Given the description of an element on the screen output the (x, y) to click on. 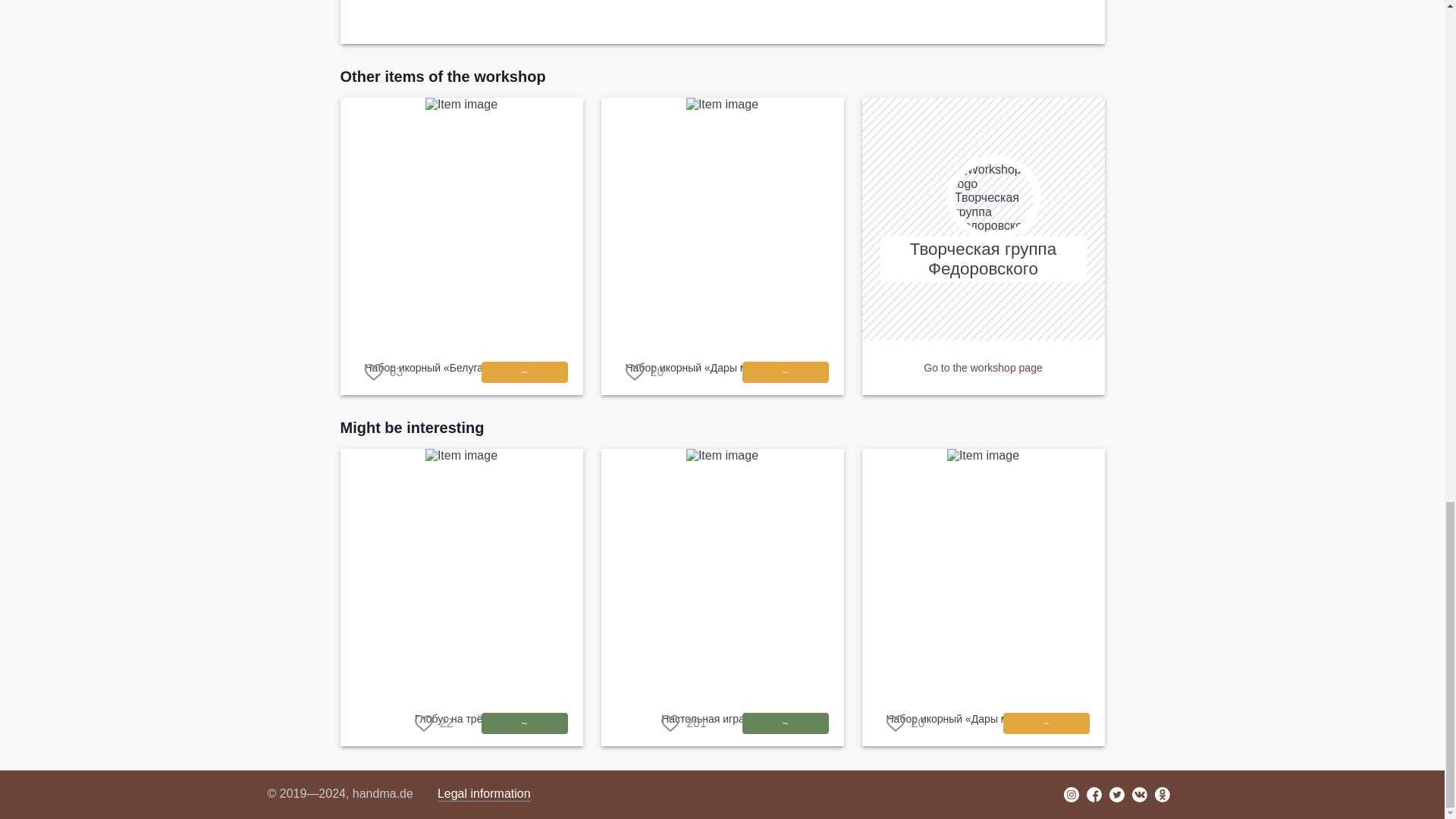
Like (683, 723)
Like (383, 371)
Go to the workshop page (982, 367)
20 (904, 723)
Legal information (484, 794)
On order. Proceed to creating an order (784, 372)
22 (433, 723)
On order. Proceed to creating an order (523, 372)
Like (433, 723)
20 (643, 371)
63 (383, 371)
In stock. Proceed to checkout (523, 722)
Like (643, 371)
201 (683, 723)
